Given the description of an element on the screen output the (x, y) to click on. 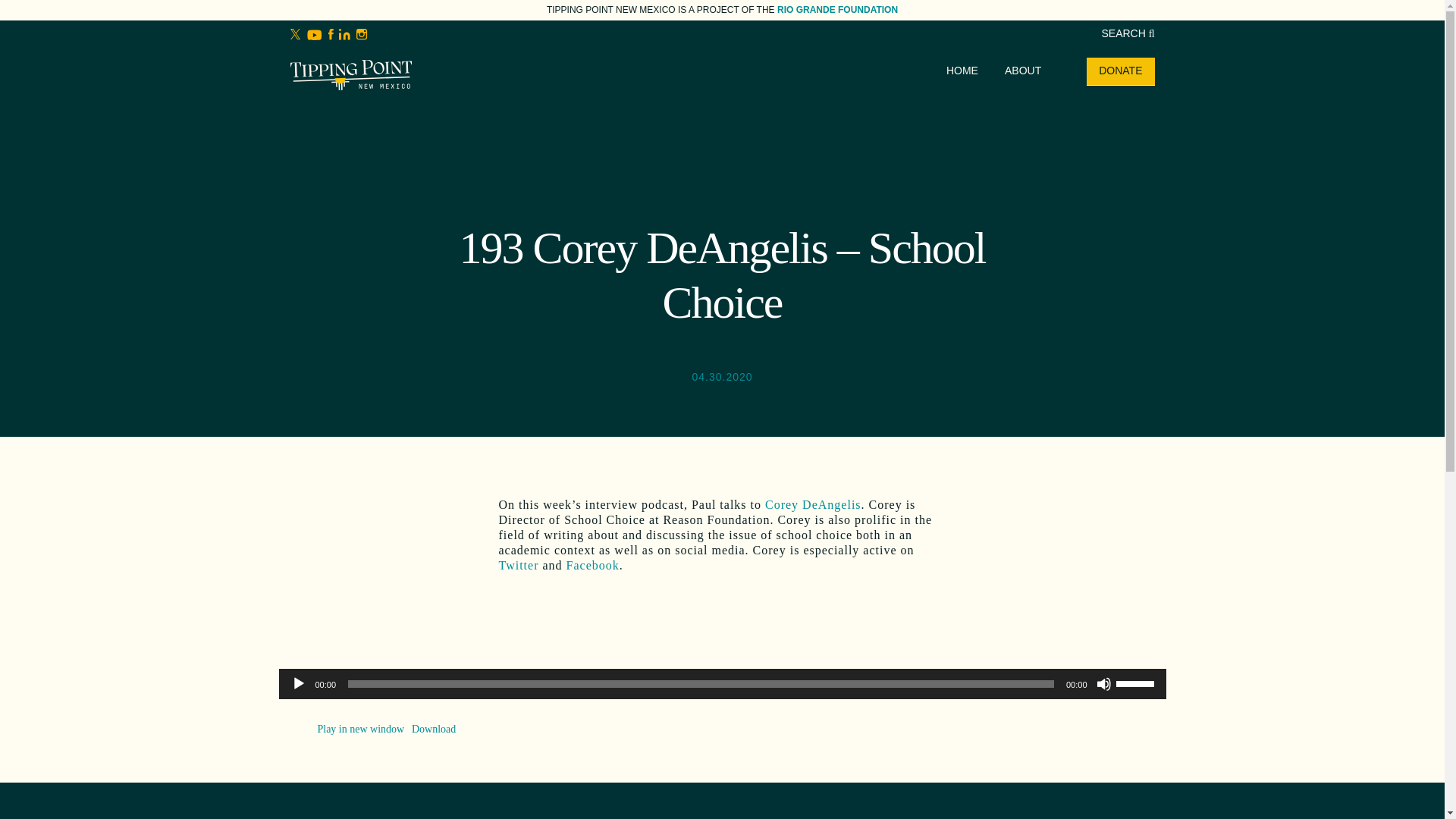
Play in new window (360, 728)
Twitter (518, 564)
SEARCH (1127, 33)
DONATE (1120, 70)
Corey DeAngelis (813, 504)
RIO GRANDE FOUNDATION (837, 9)
Facebook (593, 564)
Mute (1104, 683)
Download (433, 728)
Download (433, 728)
